Given the description of an element on the screen output the (x, y) to click on. 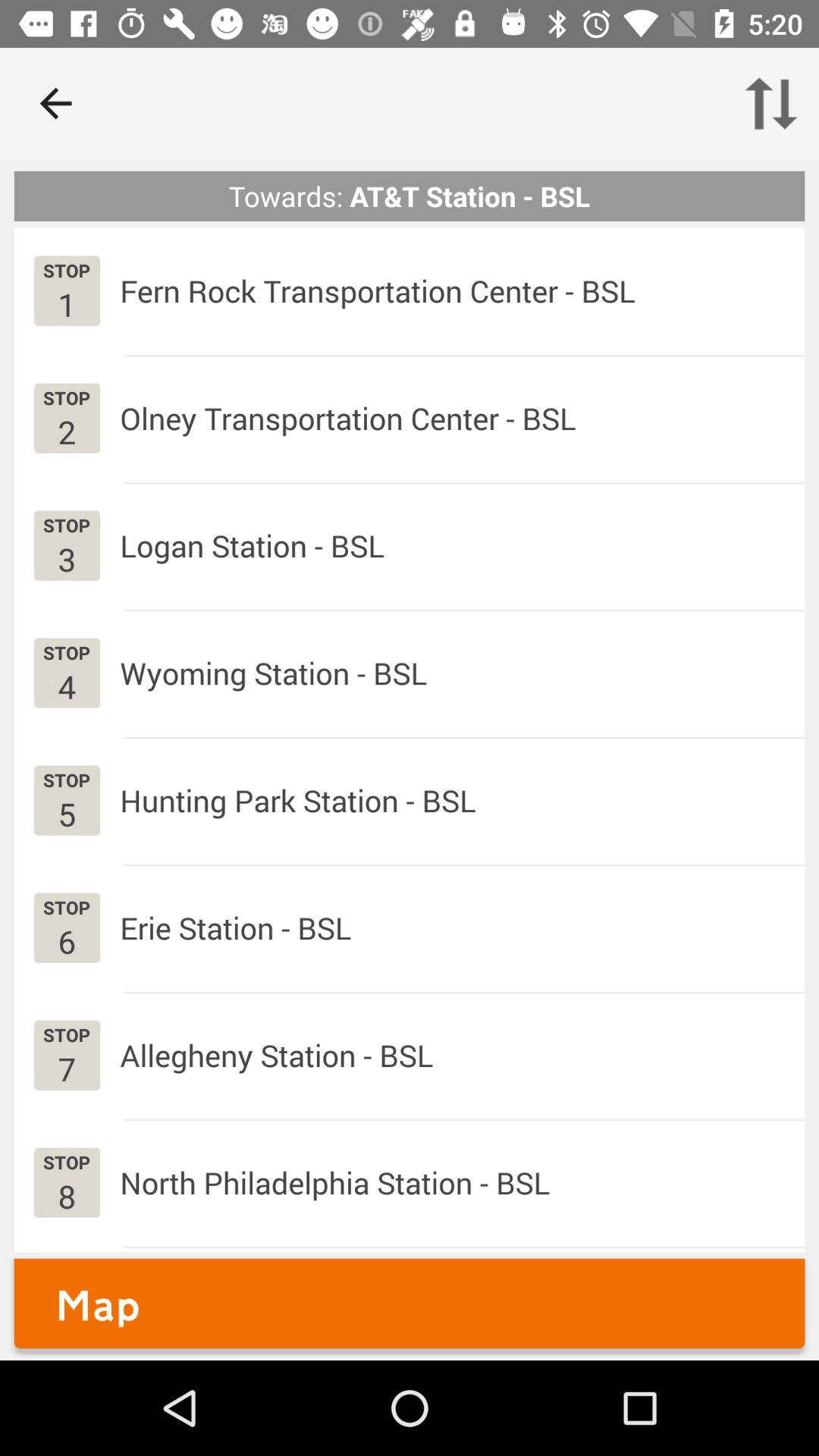
tap item below the stop (66, 303)
